Given the description of an element on the screen output the (x, y) to click on. 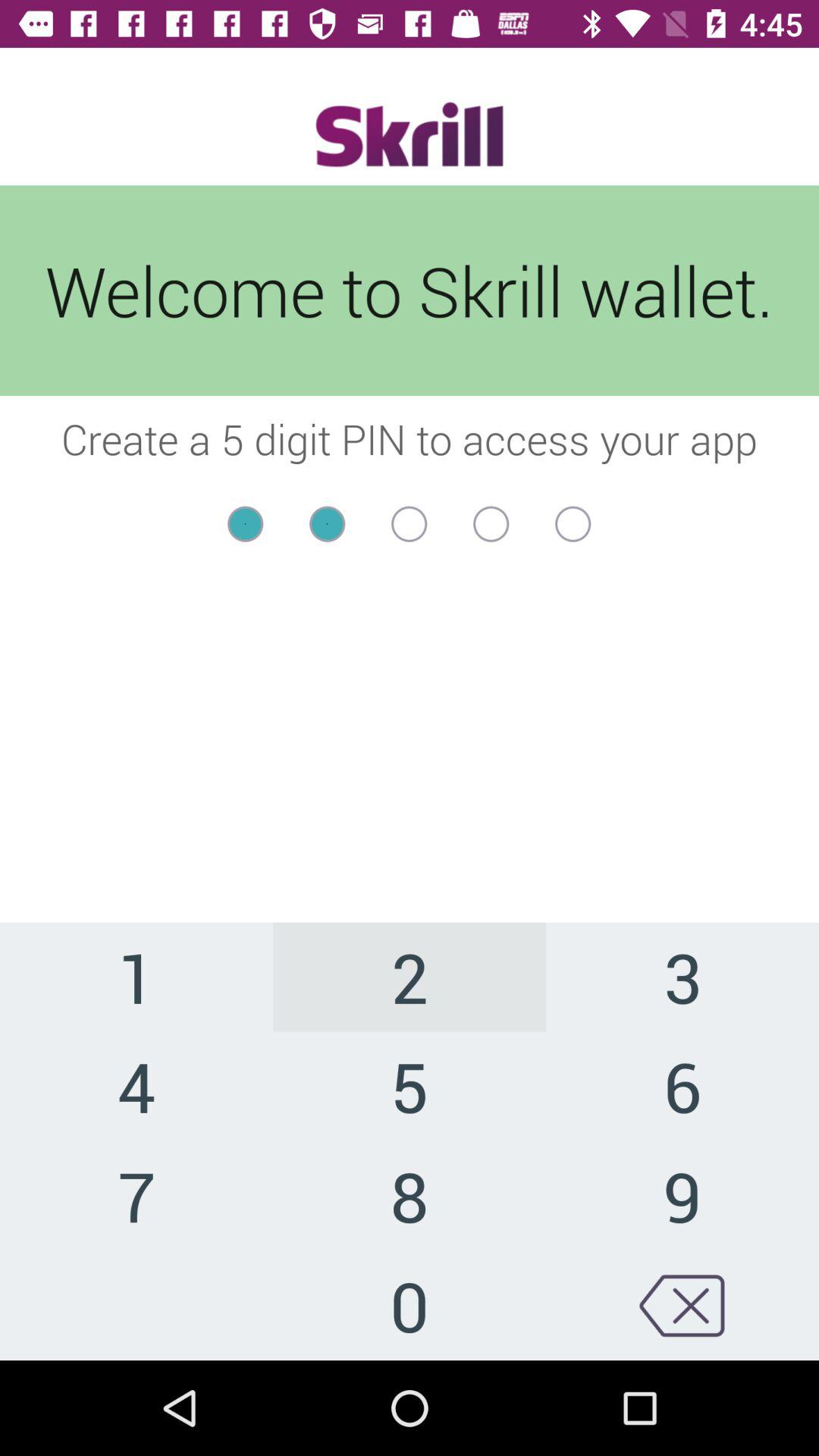
press item below the 2 item (682, 1085)
